Given the description of an element on the screen output the (x, y) to click on. 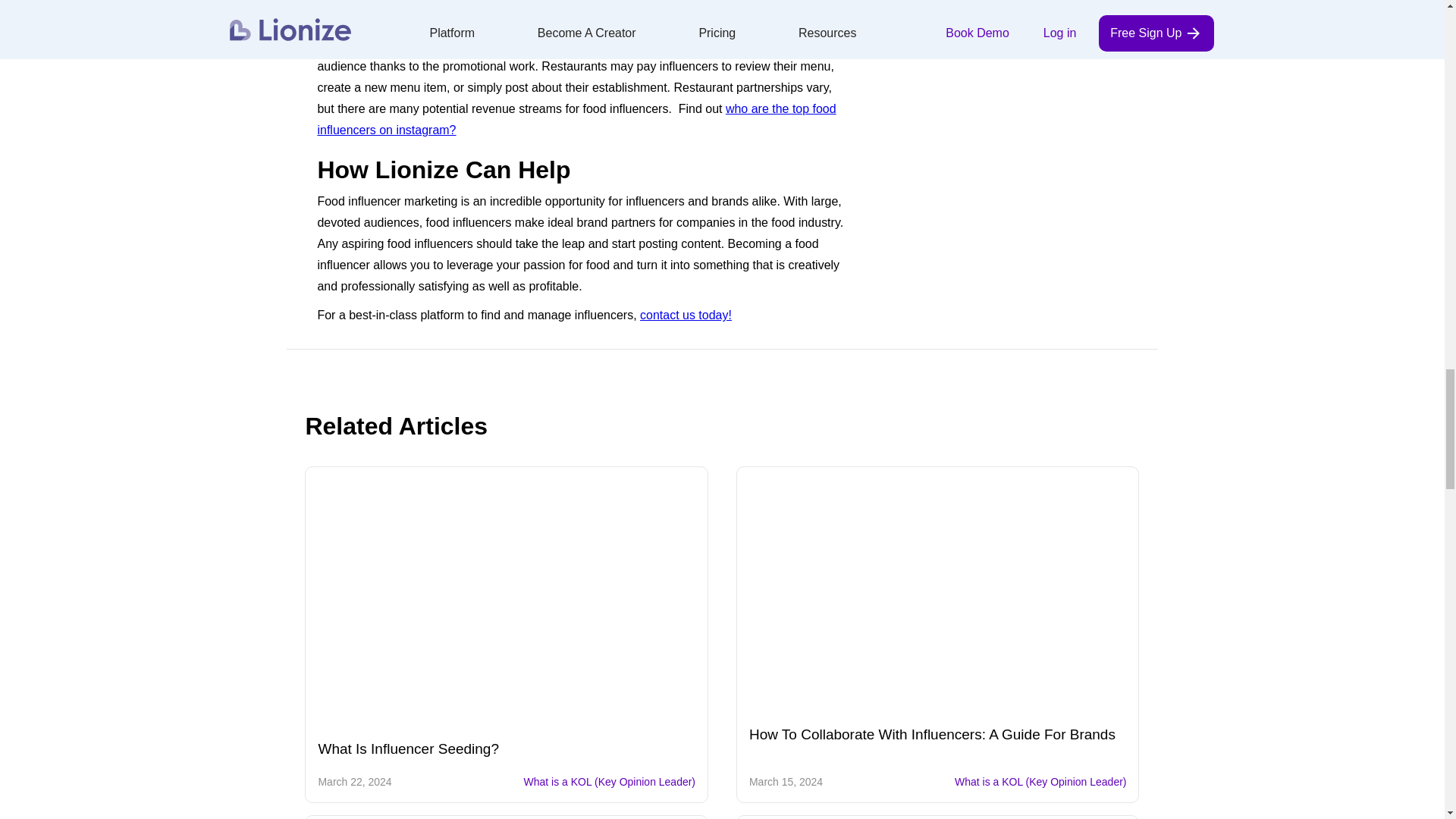
What Is Influencer Seeding? (506, 605)
who are the top food influencers on instagram? (576, 119)
contact us today! (686, 314)
How To Collaborate With Influencers: A Guide For Brands (937, 597)
